Given the description of an element on the screen output the (x, y) to click on. 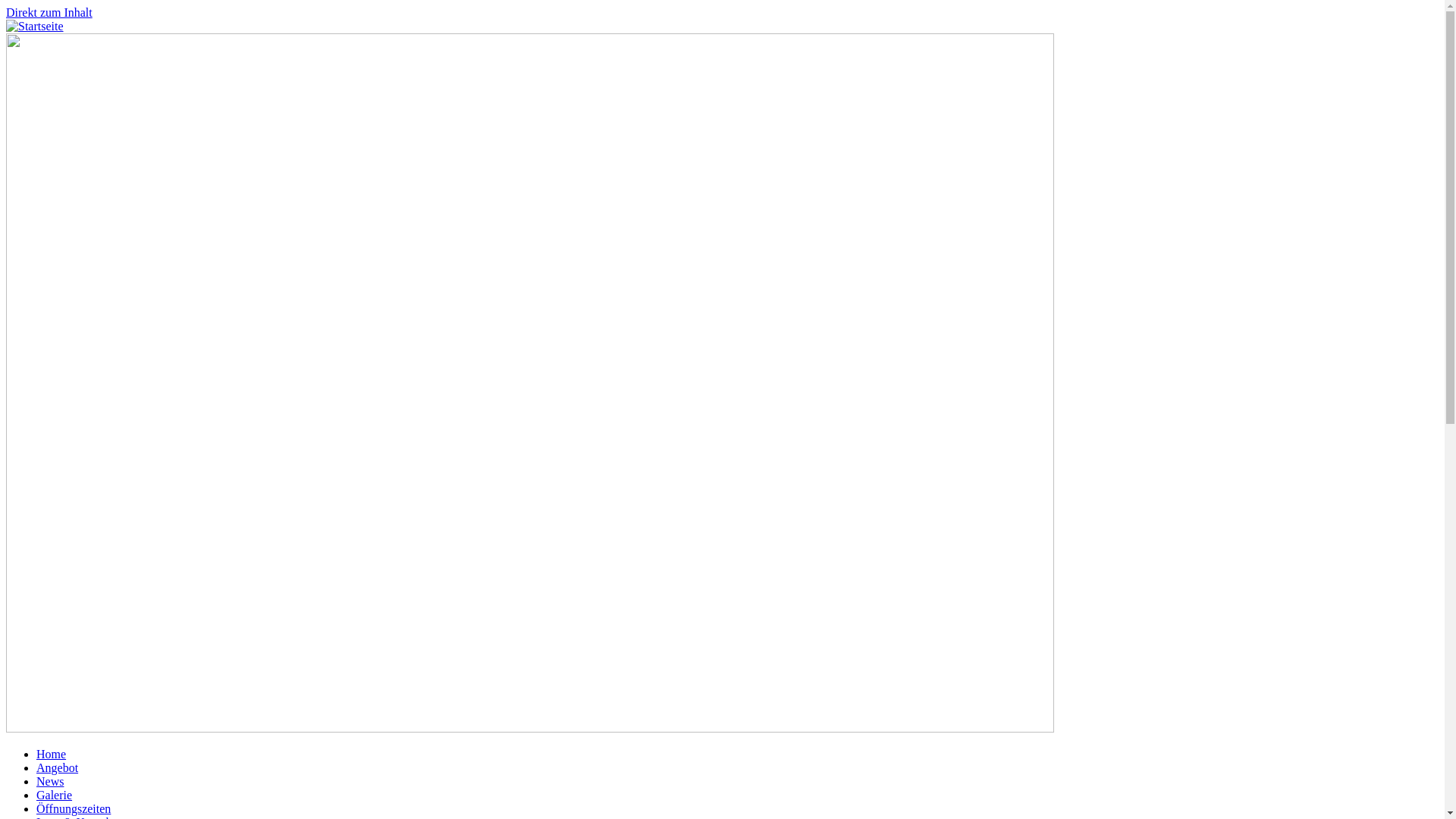
Startseite Element type: hover (34, 25)
Direkt zum Inhalt Element type: text (49, 12)
Home Element type: text (50, 753)
Angebot Element type: text (57, 767)
Galerie Element type: text (54, 794)
News Element type: text (49, 781)
